Given the description of an element on the screen output the (x, y) to click on. 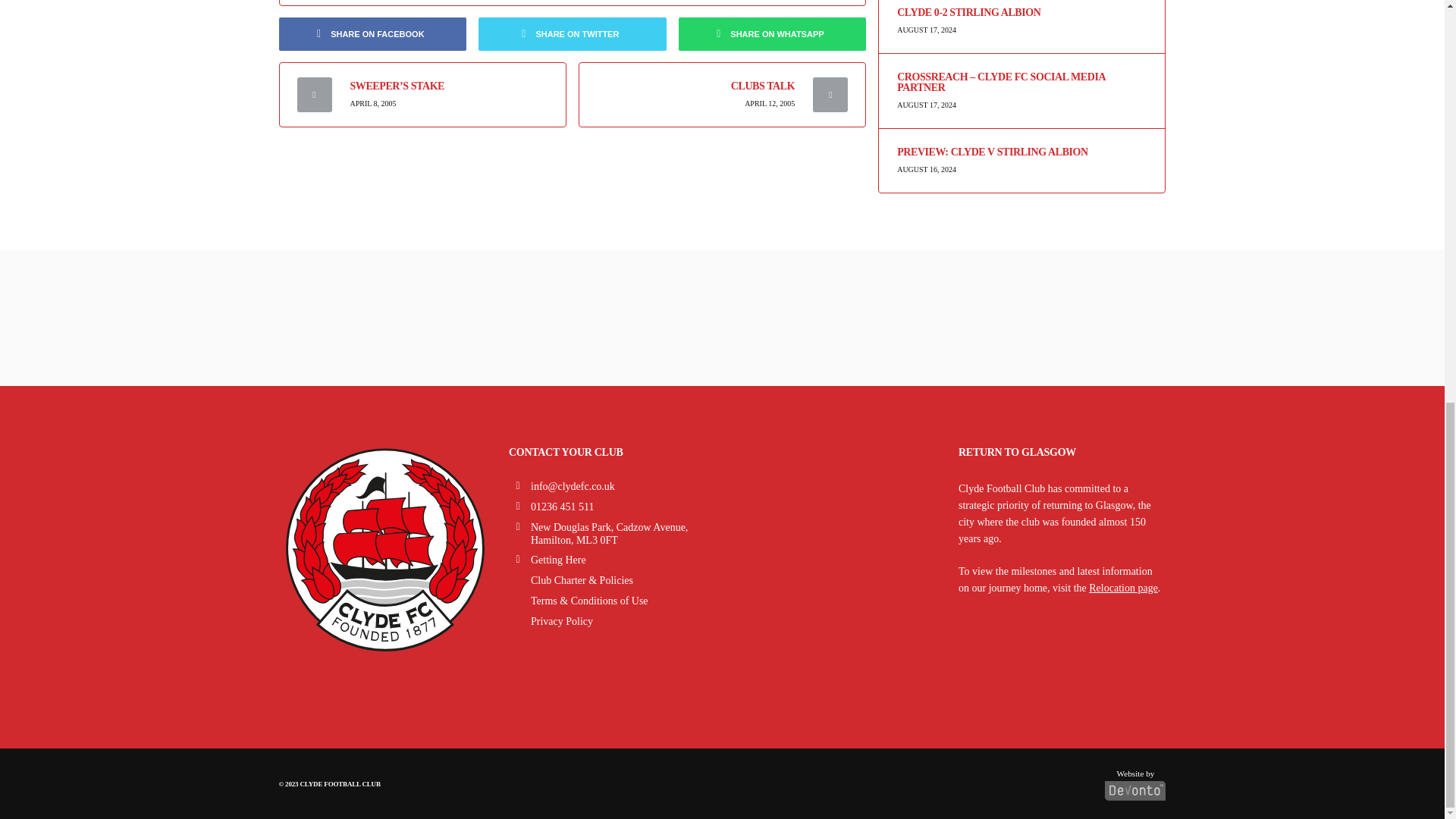
Clyde 0-2 Stirling Albion (1021, 12)
PREVIEW: Clyde v Stirling Albion (1021, 152)
Devonto Web Design Cumbernauld (1135, 781)
